Given the description of an element on the screen output the (x, y) to click on. 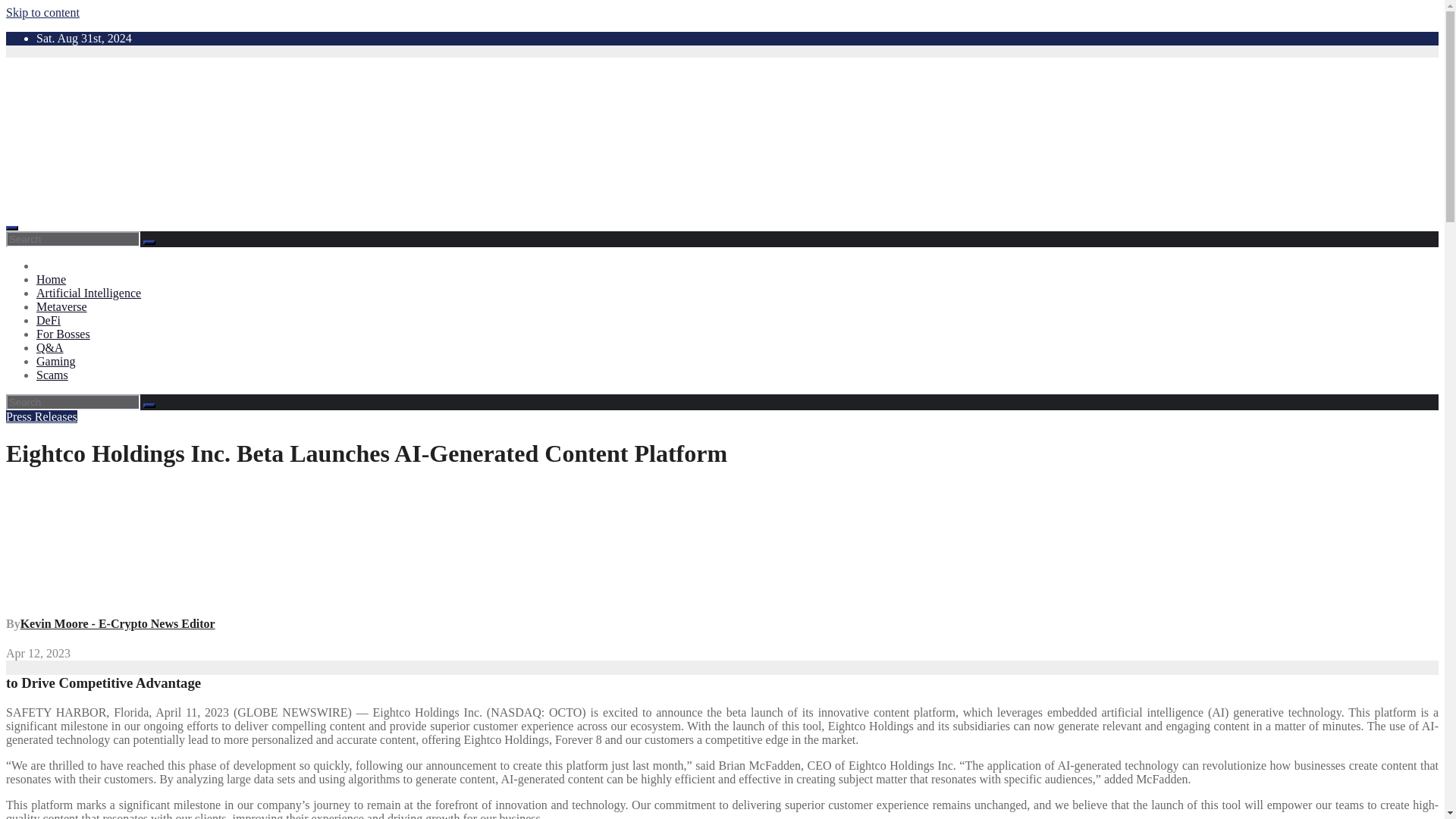
Scams (52, 374)
E-crypto news-01 - E-Crypto News (310, 135)
Gaming (55, 360)
Artificial Intelligence (88, 292)
DeFi (48, 319)
Scams (52, 374)
For Bosses (63, 333)
DeFi (48, 319)
Gaming (55, 360)
Artificial Intelligence (88, 292)
